Given the description of an element on the screen output the (x, y) to click on. 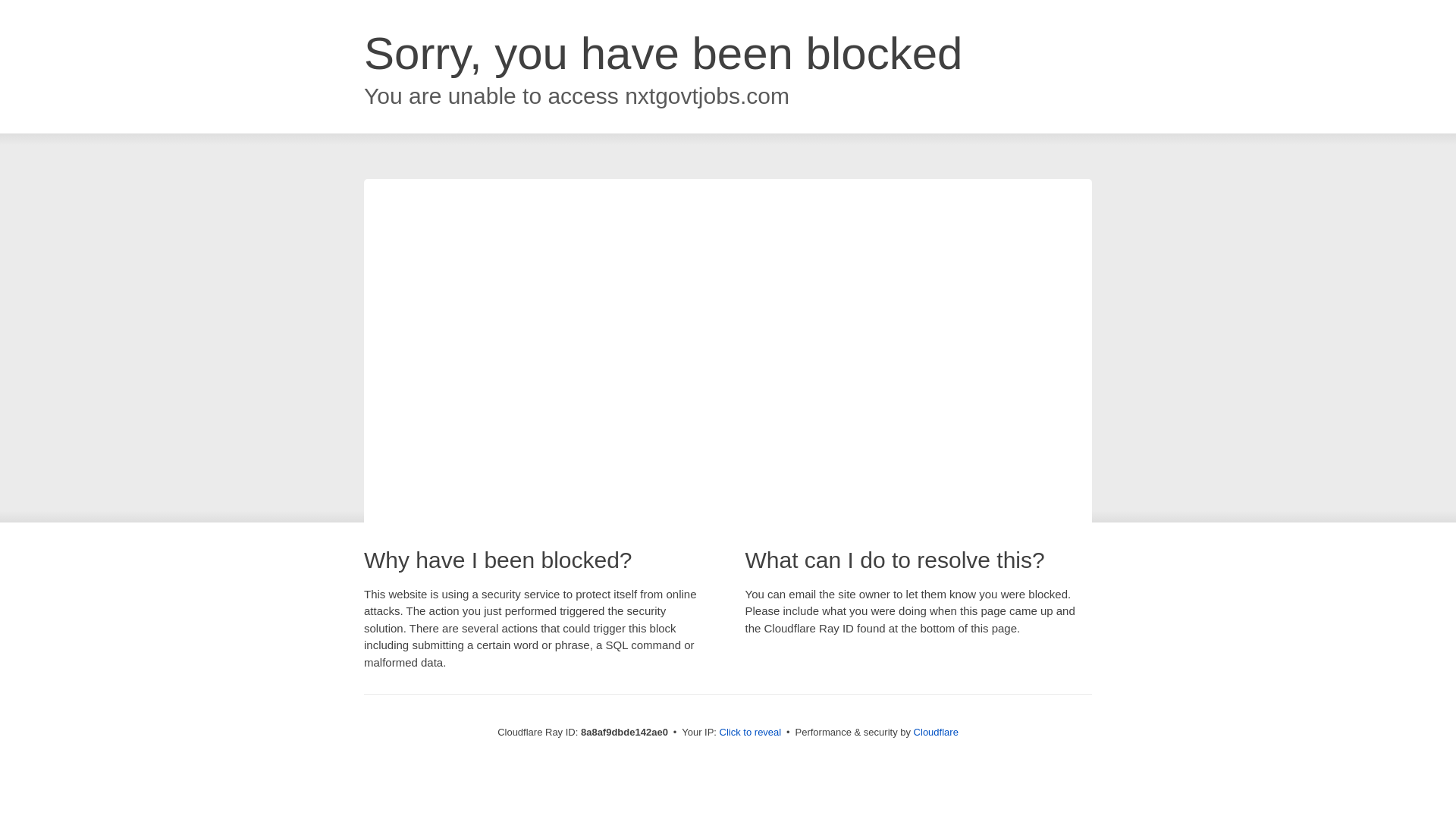
Cloudflare (936, 731)
Click to reveal (750, 732)
